Given the description of an element on the screen output the (x, y) to click on. 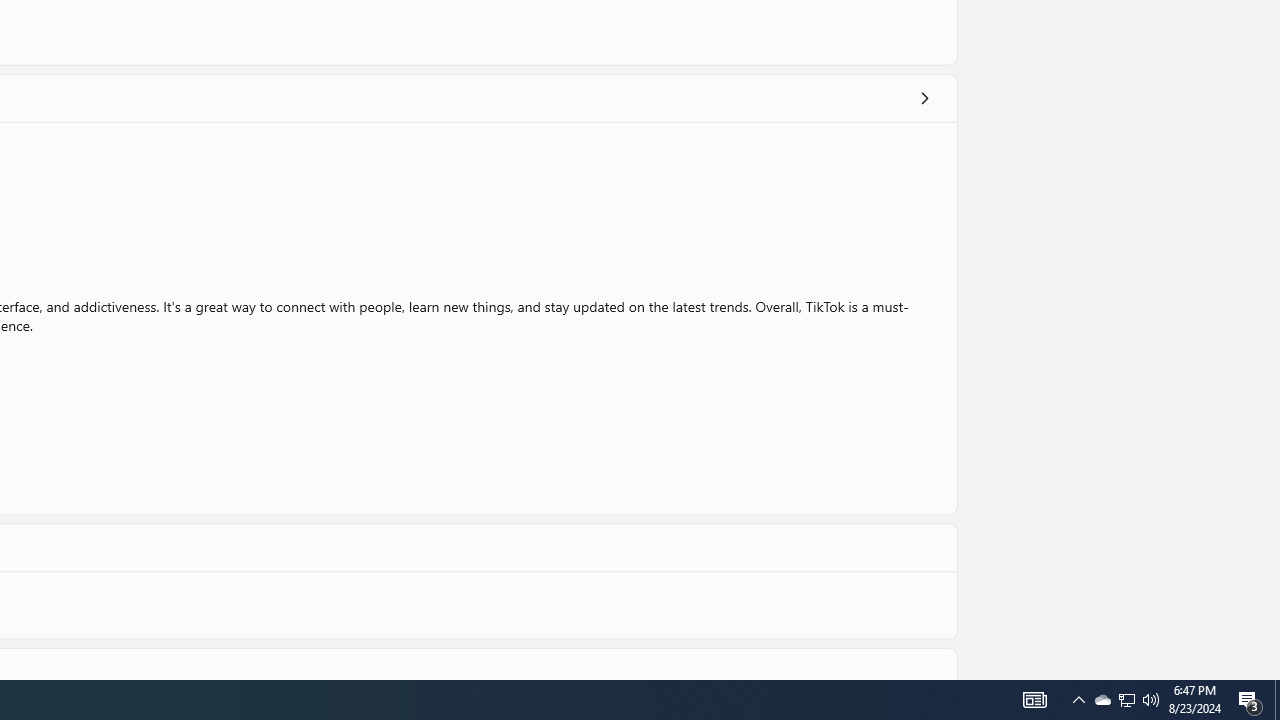
Show all ratings and reviews (924, 97)
